Given the description of an element on the screen output the (x, y) to click on. 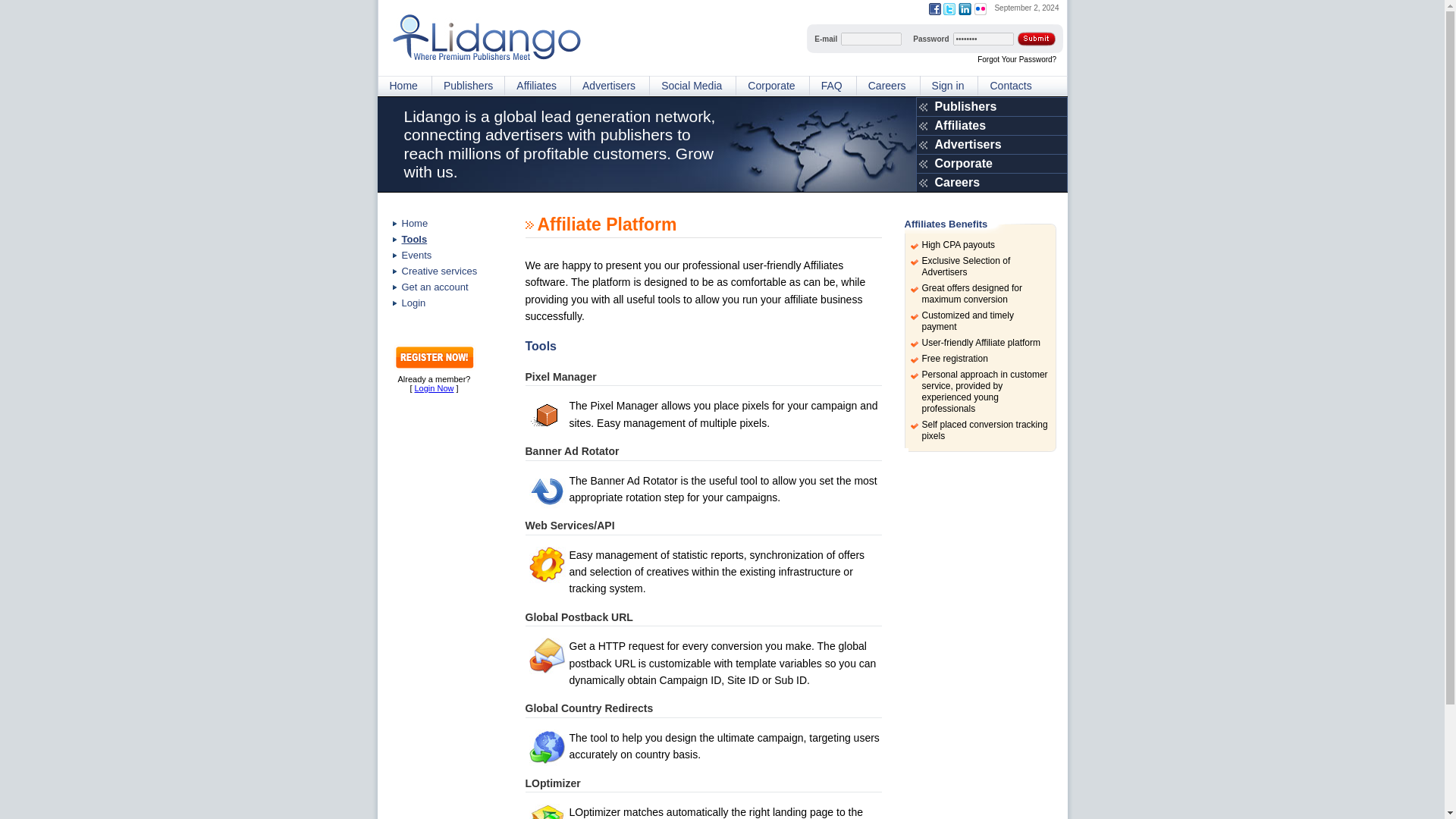
Forgot Your Password? (1016, 59)
Home (403, 85)
Creative services (446, 270)
Events (446, 254)
Login (446, 302)
Contacts (1009, 85)
Home (446, 222)
Tools (446, 238)
Publishers (991, 106)
Advertisers (608, 85)
